Given the description of an element on the screen output the (x, y) to click on. 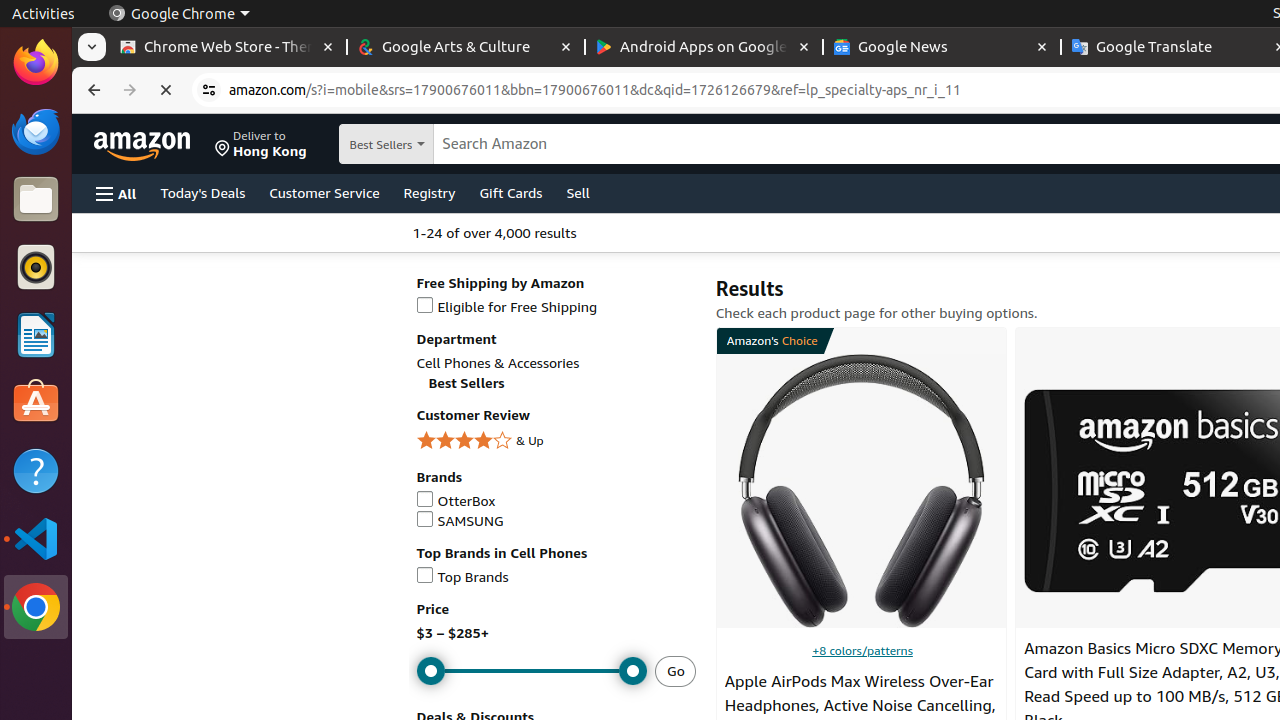
Amazon's Choice Element type: link (770, 343)
Visual Studio Code Element type: push-button (36, 538)
Firefox Web Browser Element type: push-button (36, 63)
Eligible for Free Shipping Element type: list-item (556, 307)
Google Arts & Culture - Memory usage - 57.6 MB Element type: page-tab (466, 47)
